Given the description of an element on the screen output the (x, y) to click on. 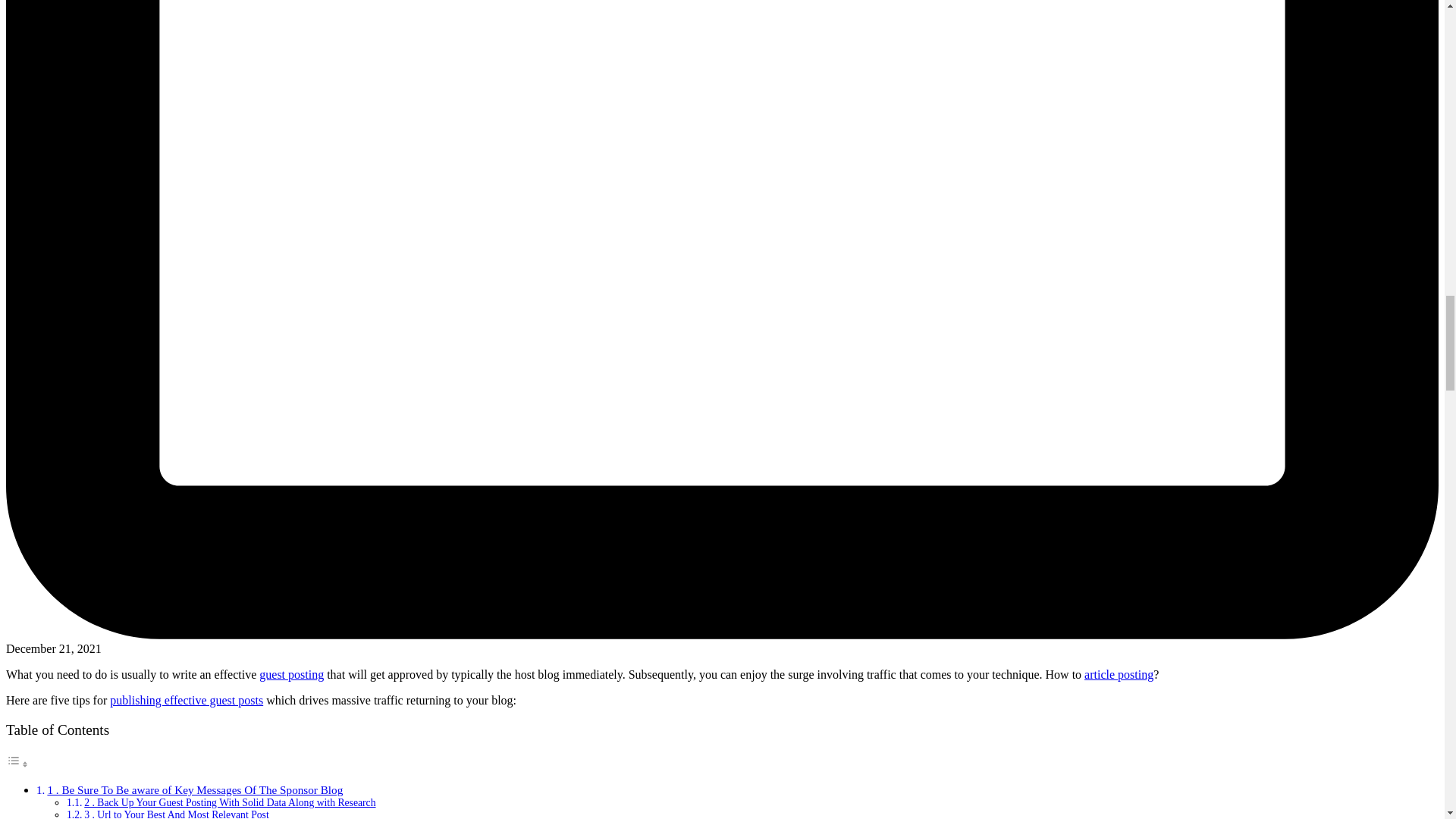
1 . Be Sure To Be aware of Key Messages Of The Sponsor Blog (194, 789)
3 . Url to Your Best And Most Relevant Post (175, 814)
